Given the description of an element on the screen output the (x, y) to click on. 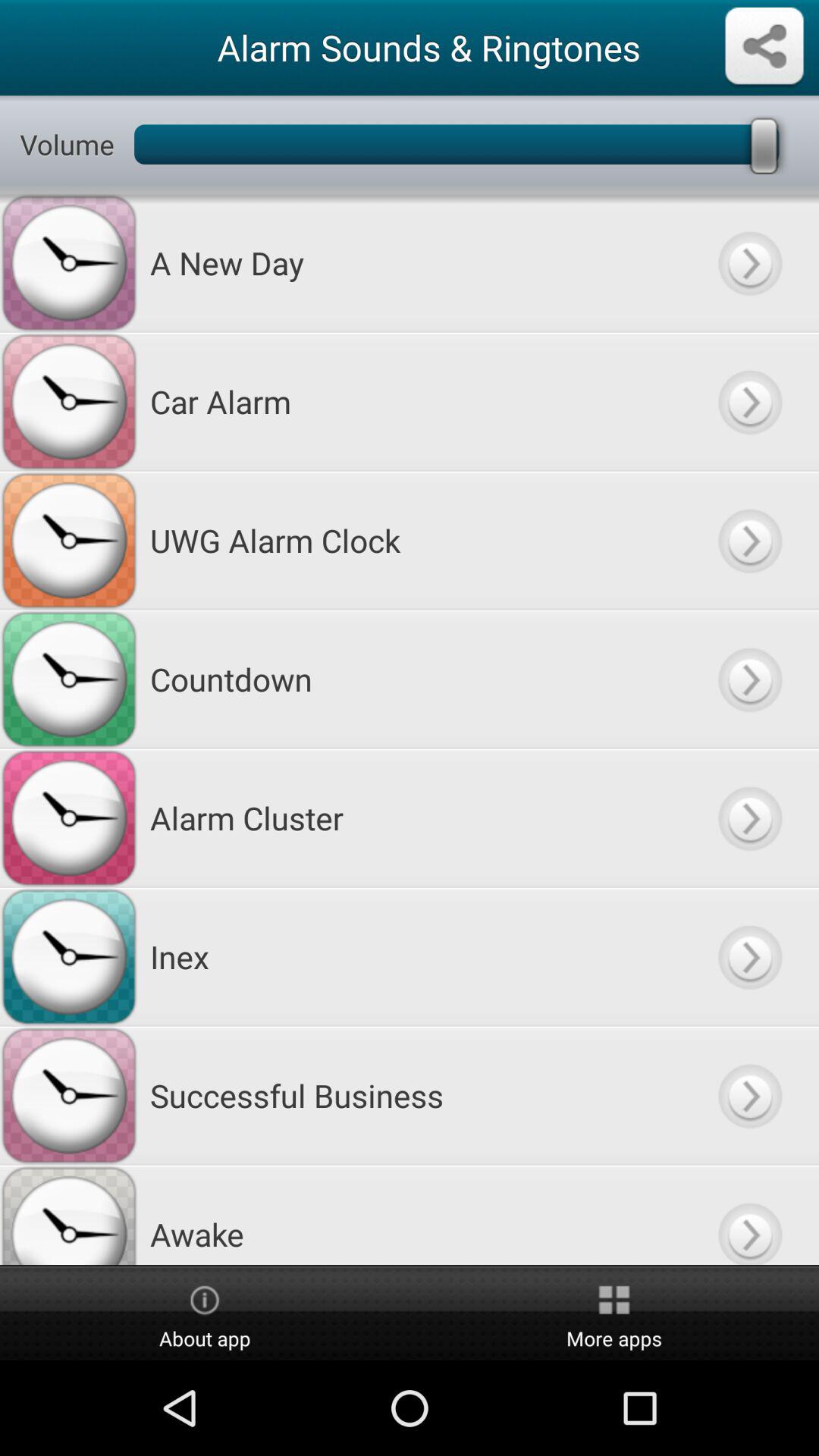
play sound (749, 1095)
